Given the description of an element on the screen output the (x, y) to click on. 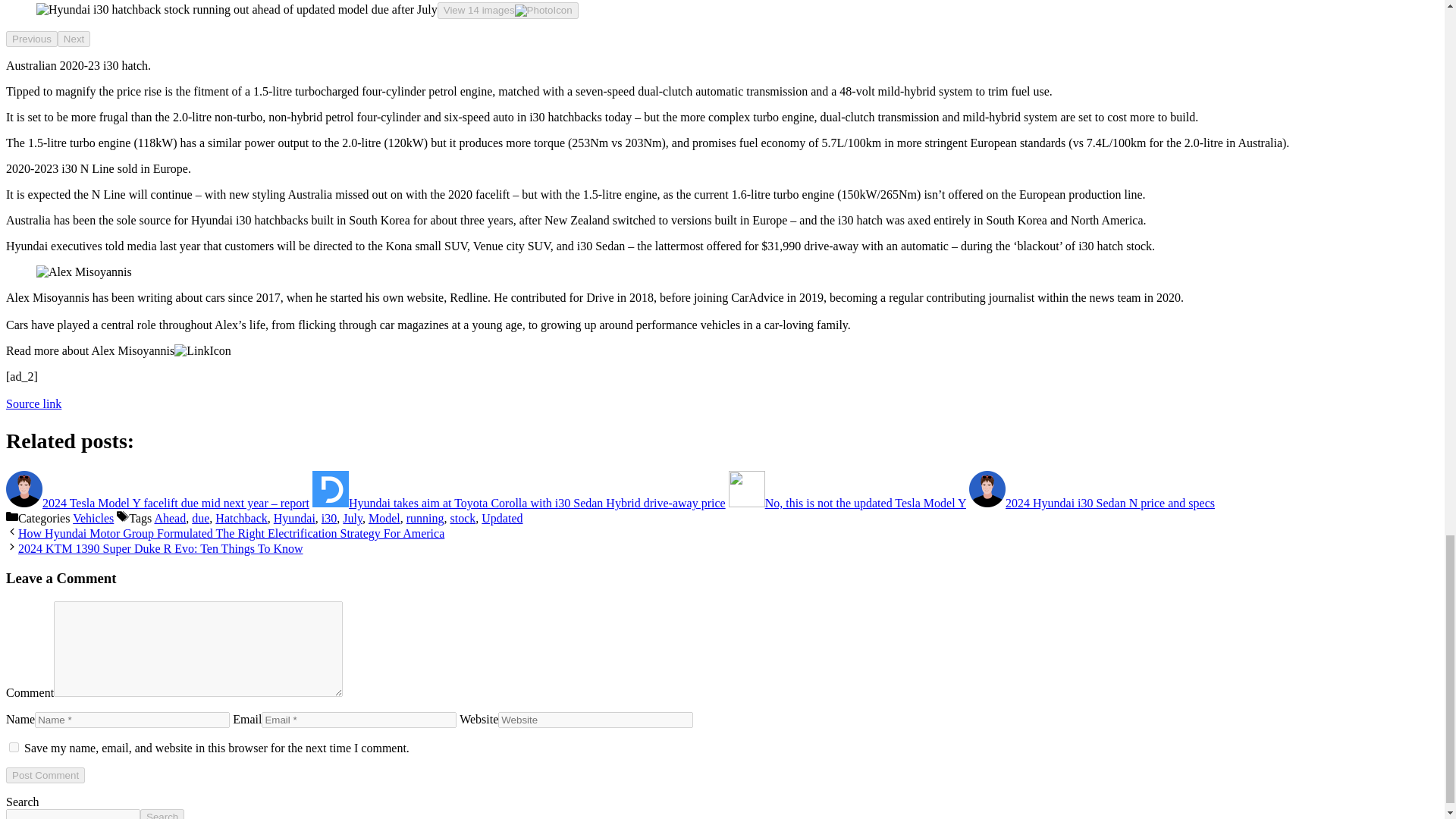
yes (13, 747)
Post Comment (44, 774)
No, this is not the updated Tesla Model Y (847, 502)
2024 Hyundai i30 Sedan N price and specs (1091, 502)
